Given the description of an element on the screen output the (x, y) to click on. 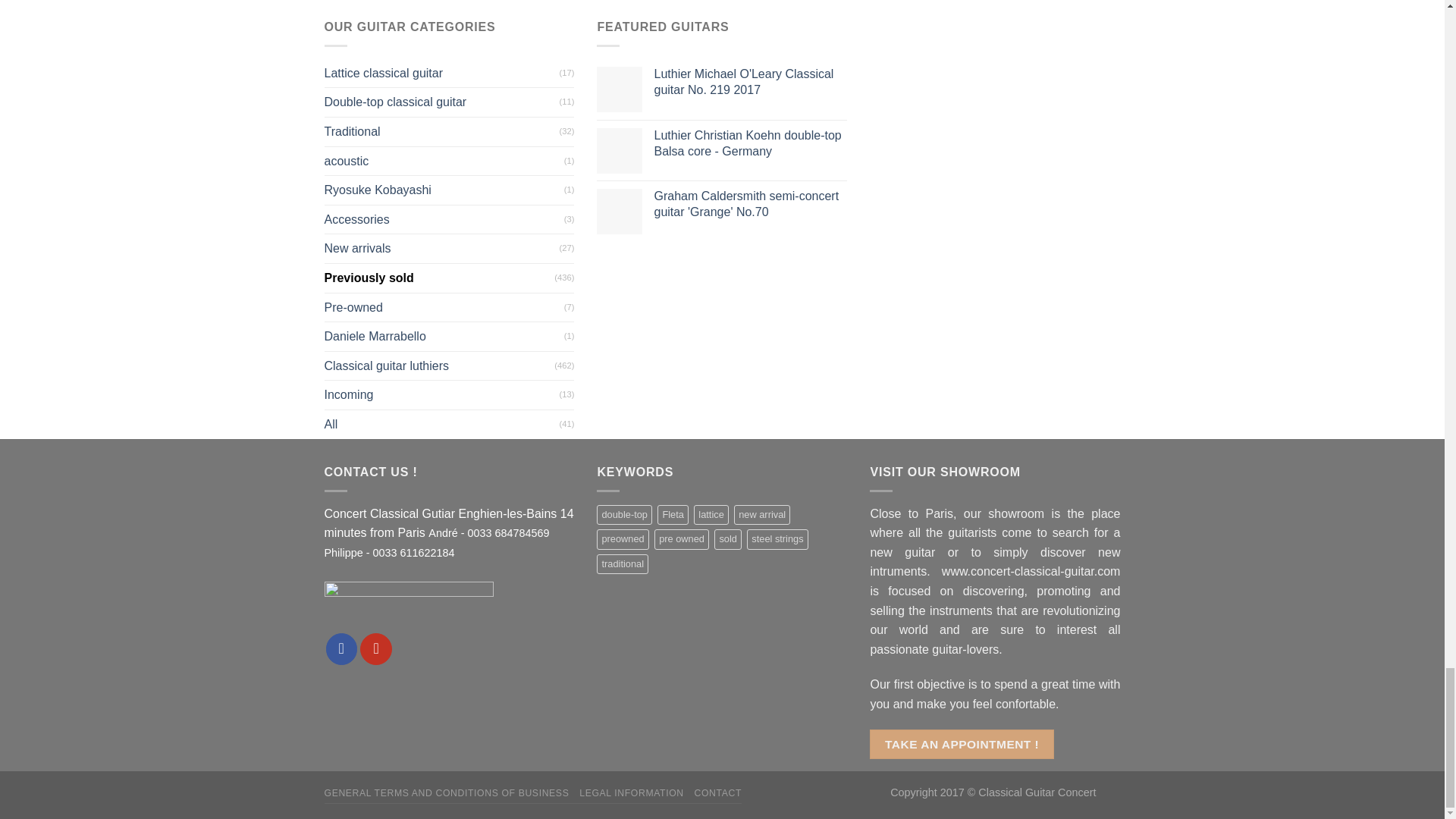
Follow on Facebook (342, 649)
Follow on YouTube (375, 649)
